Given the description of an element on the screen output the (x, y) to click on. 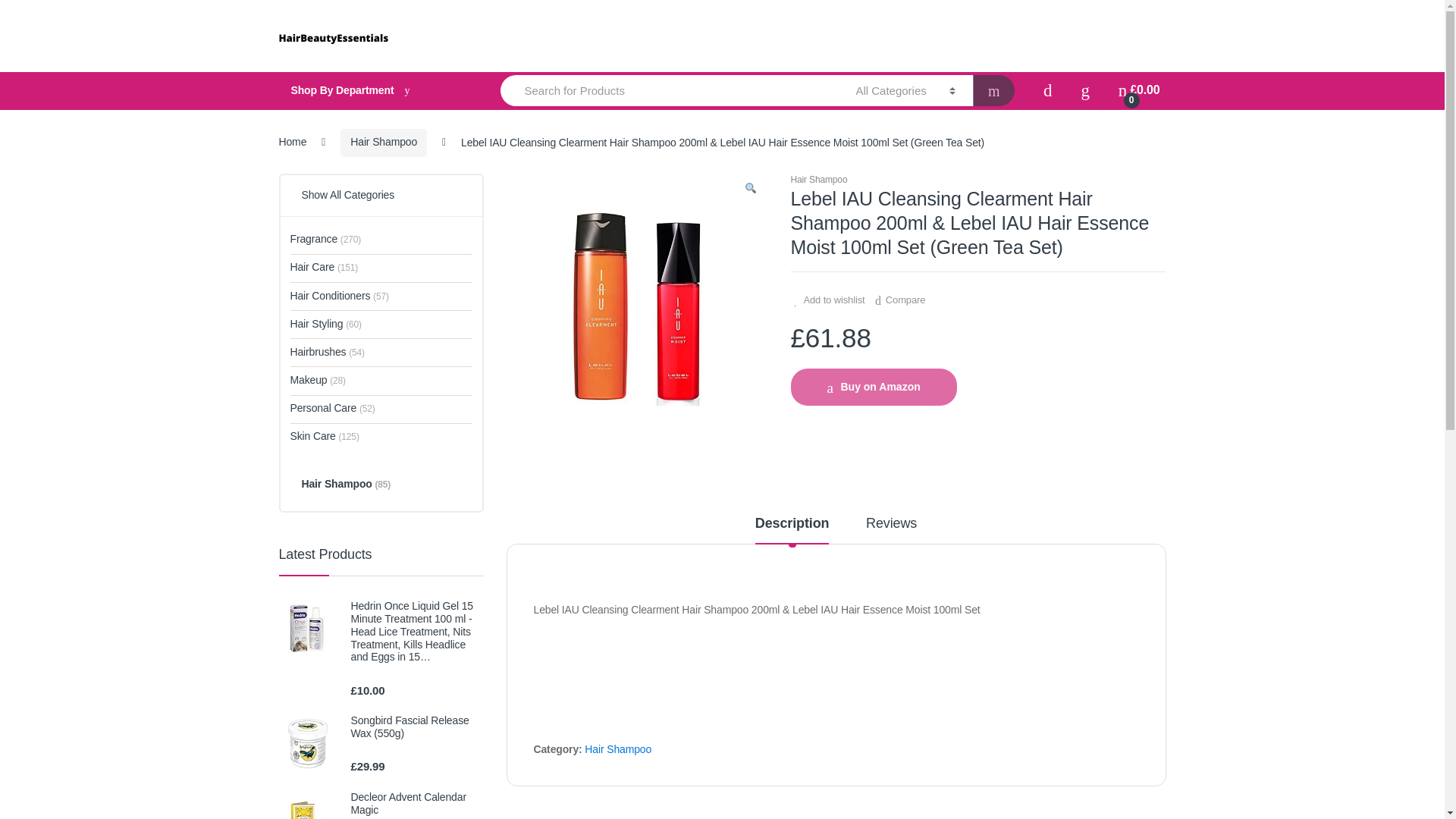
Shop By Department (375, 90)
